Given the description of an element on the screen output the (x, y) to click on. 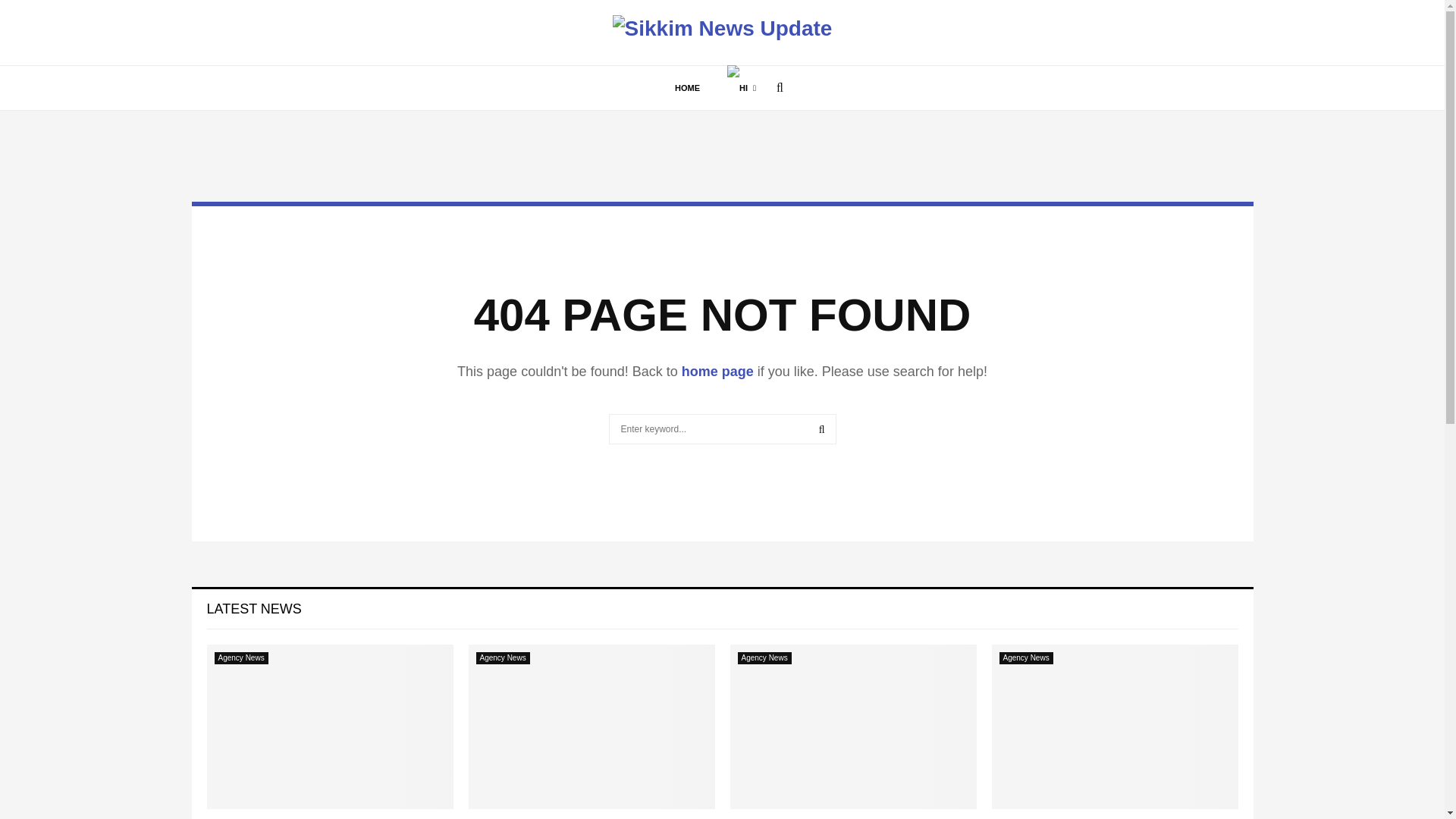
SEARCH (821, 429)
View all posts in Agency News (1025, 657)
Agency News (502, 657)
View all posts in Agency News (763, 657)
Agency News (763, 657)
Agency News (1025, 657)
Agency News (240, 657)
LATEST NEWS (253, 608)
